Given the description of an element on the screen output the (x, y) to click on. 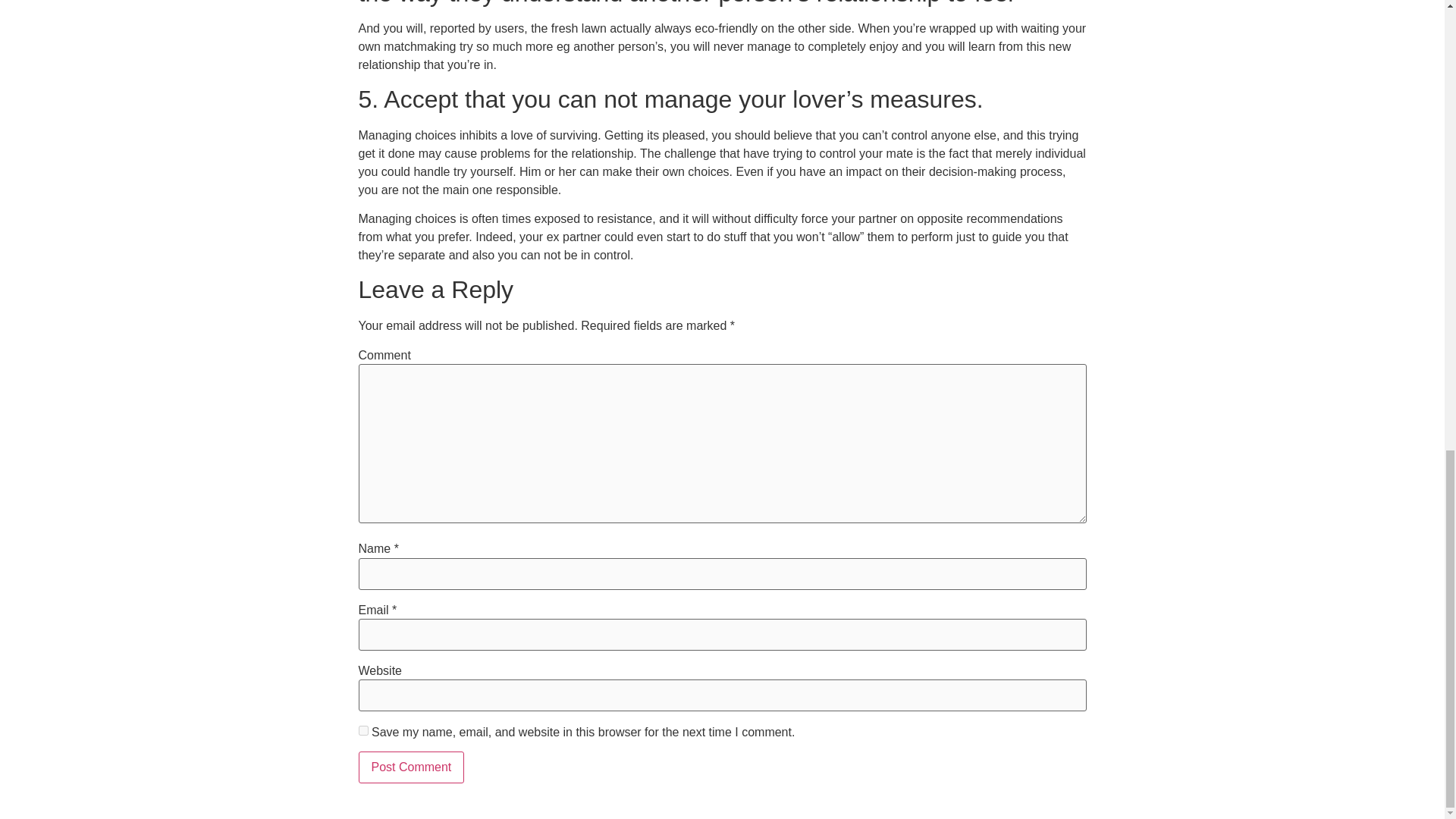
yes (363, 730)
Post Comment (411, 766)
Post Comment (411, 766)
